Given the description of an element on the screen output the (x, y) to click on. 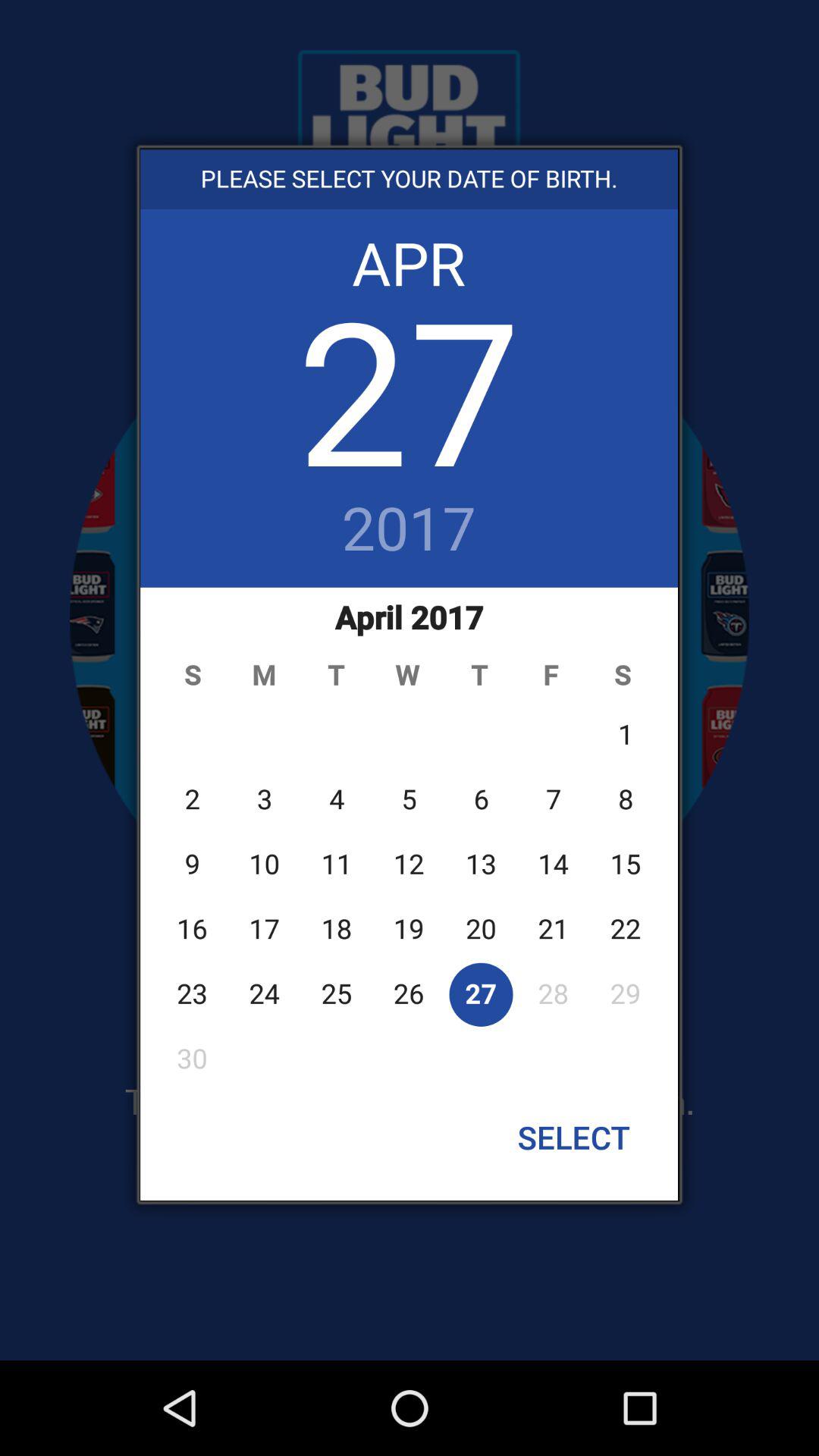
open app below 27 item (408, 530)
